Given the description of an element on the screen output the (x, y) to click on. 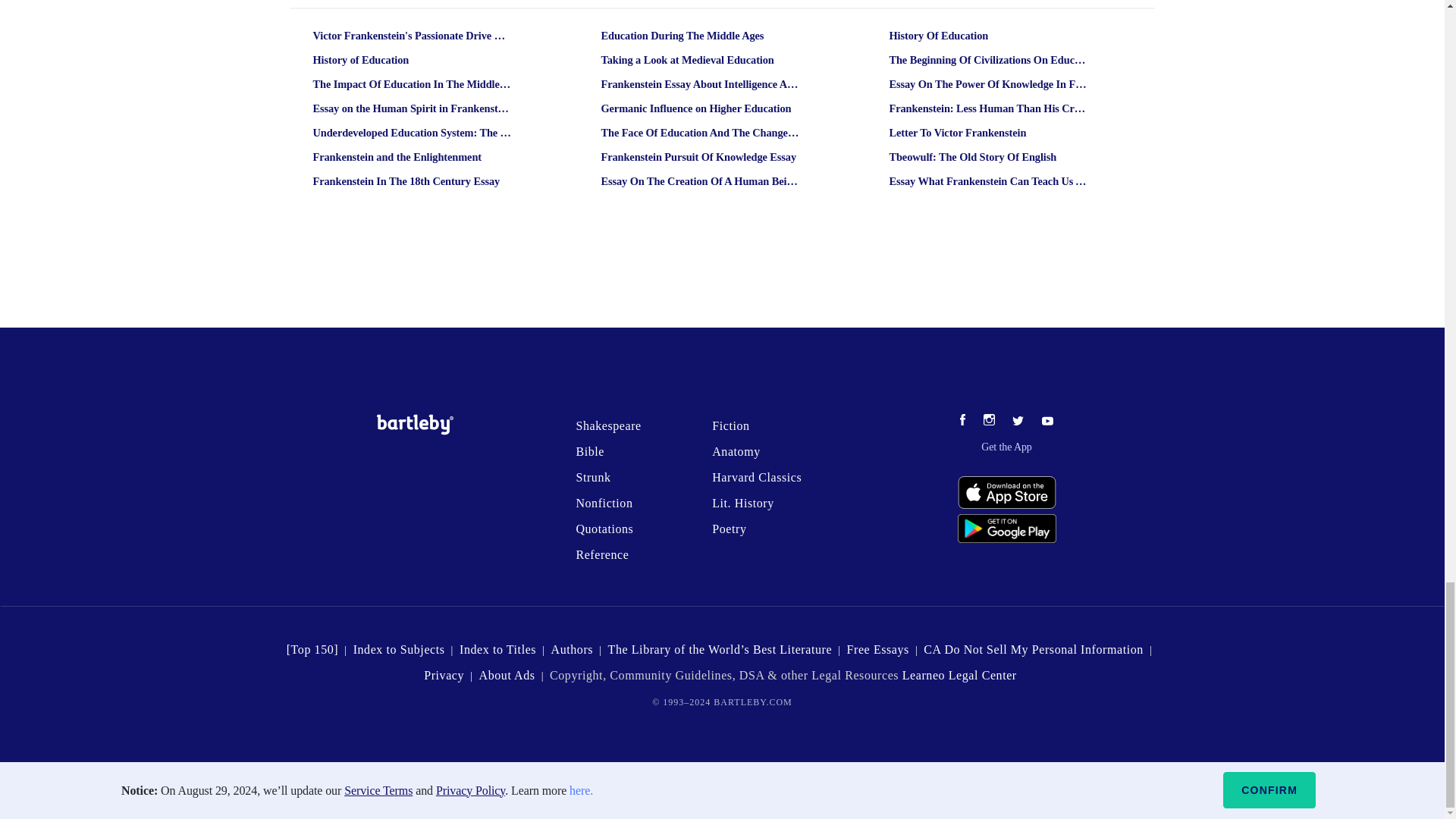
The Impact Of Education In The Middle Ages (411, 84)
Victor Frankenstein's Passionate Drive For Education (411, 36)
Taking a Look at Medieval Education (699, 59)
Essay On The Power Of Knowledge In Frankenstein (988, 84)
Germanic Influence on Higher Education (699, 108)
History Of Education (988, 36)
The Beginning Of Civilizations On Education (988, 59)
Frankenstein: Less Human Than His Creation Essays (988, 108)
History of Education (411, 59)
Frankenstein Essay About Intelligence And Knowledge (699, 84)
